Given the description of an element on the screen output the (x, y) to click on. 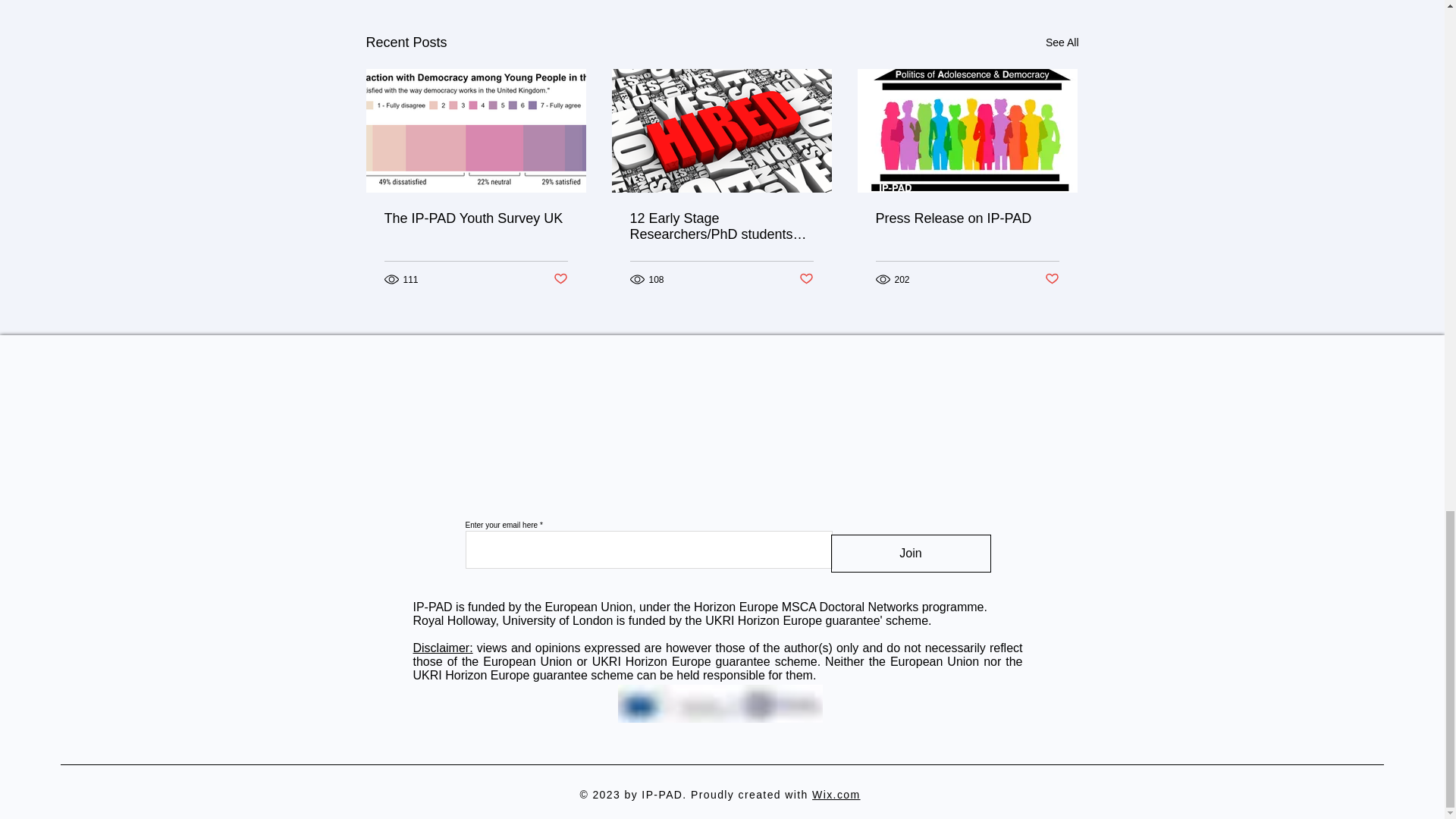
The IP-PAD Youth Survey UK (475, 218)
Post not marked as liked (560, 279)
Wix.com (836, 794)
See All (1061, 42)
Post not marked as liked (1052, 279)
Join (911, 553)
Post not marked as liked (806, 279)
Twitter Follow (892, 458)
Press Release on IP-PAD (966, 218)
